Given the description of an element on the screen output the (x, y) to click on. 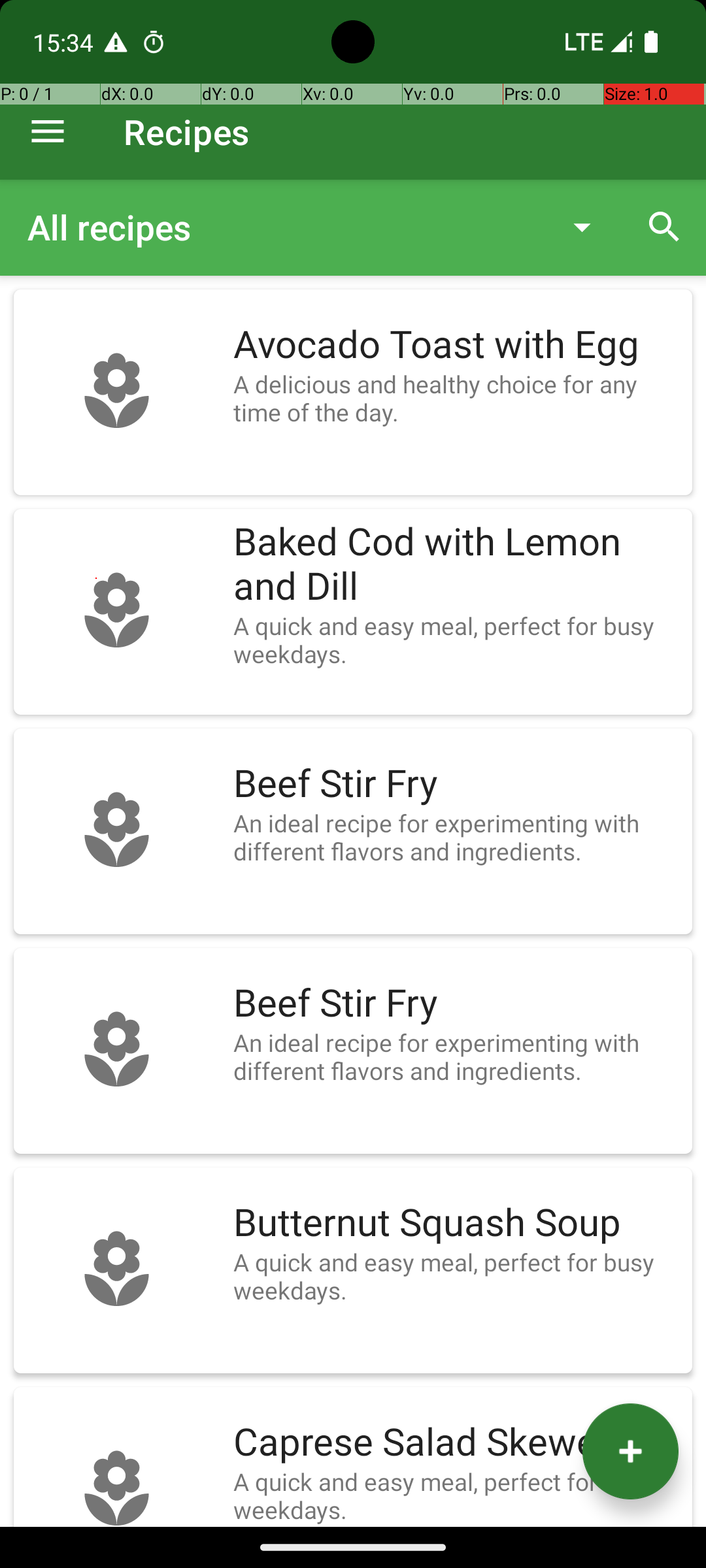
Avocado Toast with Egg Element type: android.widget.TextView (455, 344)
Baked Cod with Lemon and Dill Element type: android.widget.TextView (455, 564)
Beef Stir Fry Element type: android.widget.TextView (455, 783)
Butternut Squash Soup Element type: android.widget.TextView (455, 1222)
Caprese Salad Skewers Element type: android.widget.TextView (455, 1442)
